Given the description of an element on the screen output the (x, y) to click on. 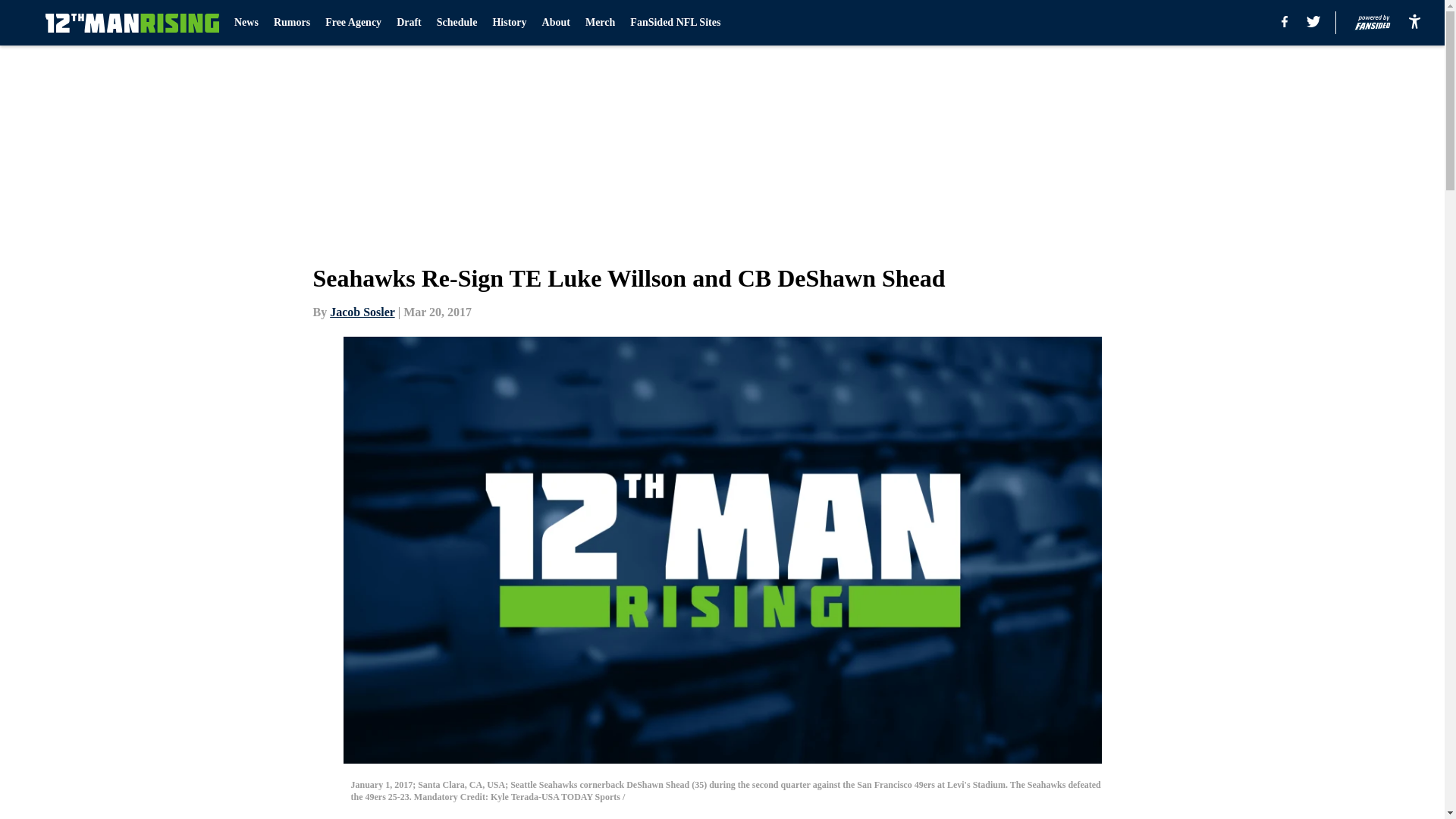
Merch (599, 22)
Schedule (456, 22)
Jacob Sosler (362, 311)
Free Agency (352, 22)
FanSided NFL Sites (675, 22)
History (508, 22)
About (555, 22)
News (246, 22)
Rumors (291, 22)
Draft (409, 22)
